Given the description of an element on the screen output the (x, y) to click on. 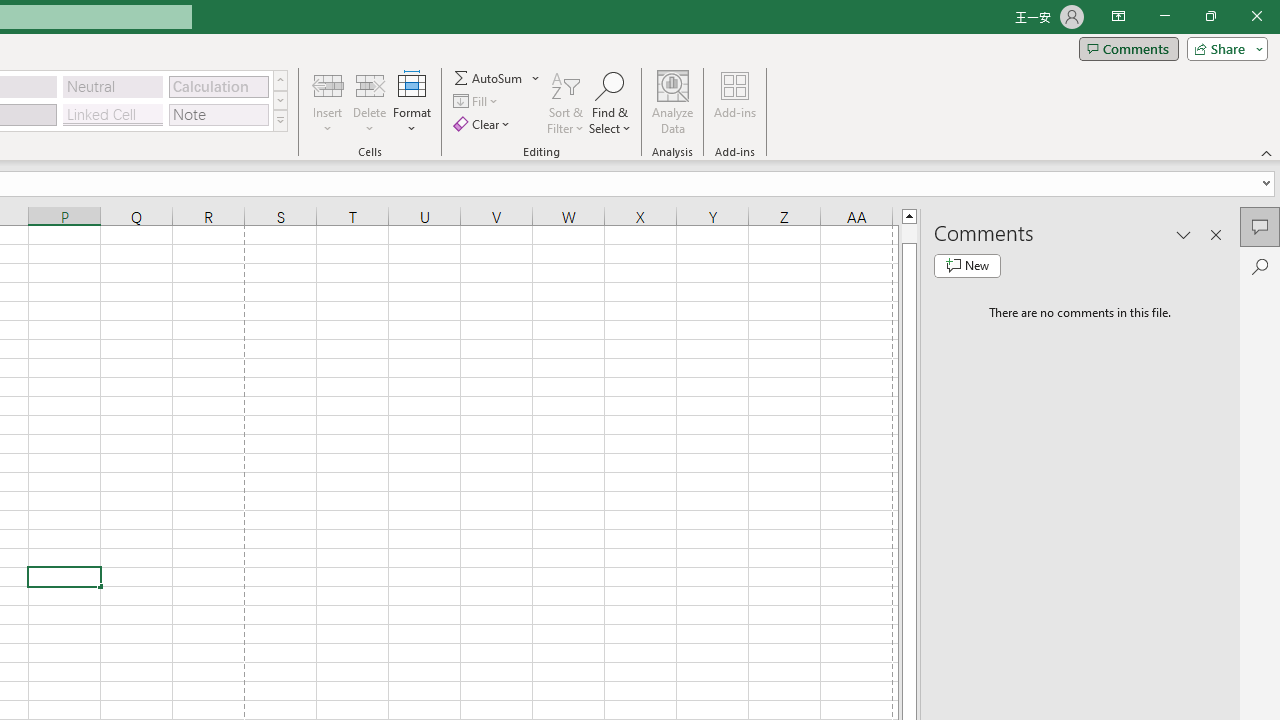
Delete Cells... (369, 84)
Neutral (113, 86)
Calculation (218, 86)
Insert Cells (328, 84)
